Given the description of an element on the screen output the (x, y) to click on. 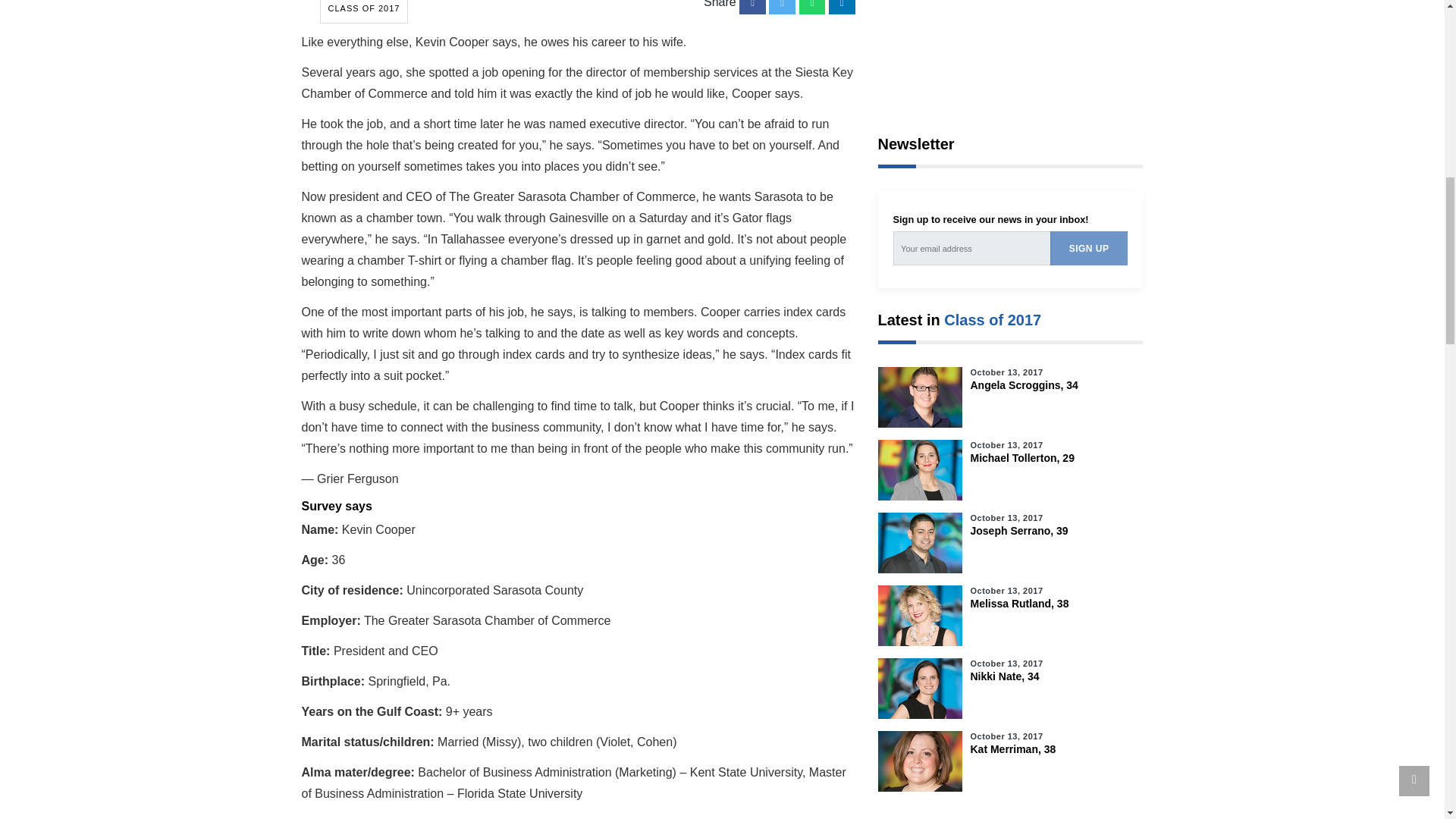
3rd party ad content (1010, 50)
